Given the description of an element on the screen output the (x, y) to click on. 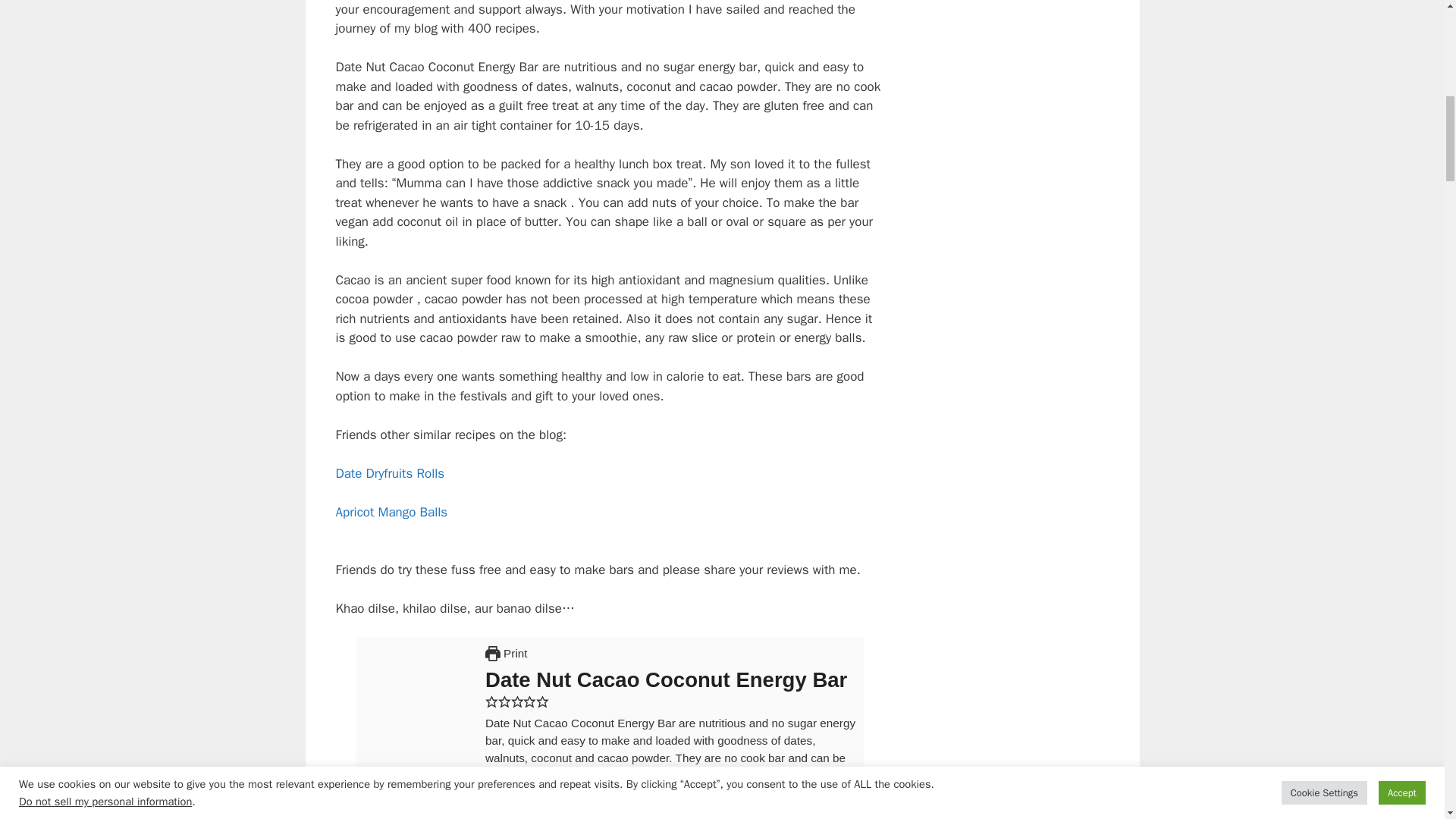
Print (505, 653)
Date Dryfruits Rolls (389, 473)
Apricot Mango Balls (390, 512)
